Given the description of an element on the screen output the (x, y) to click on. 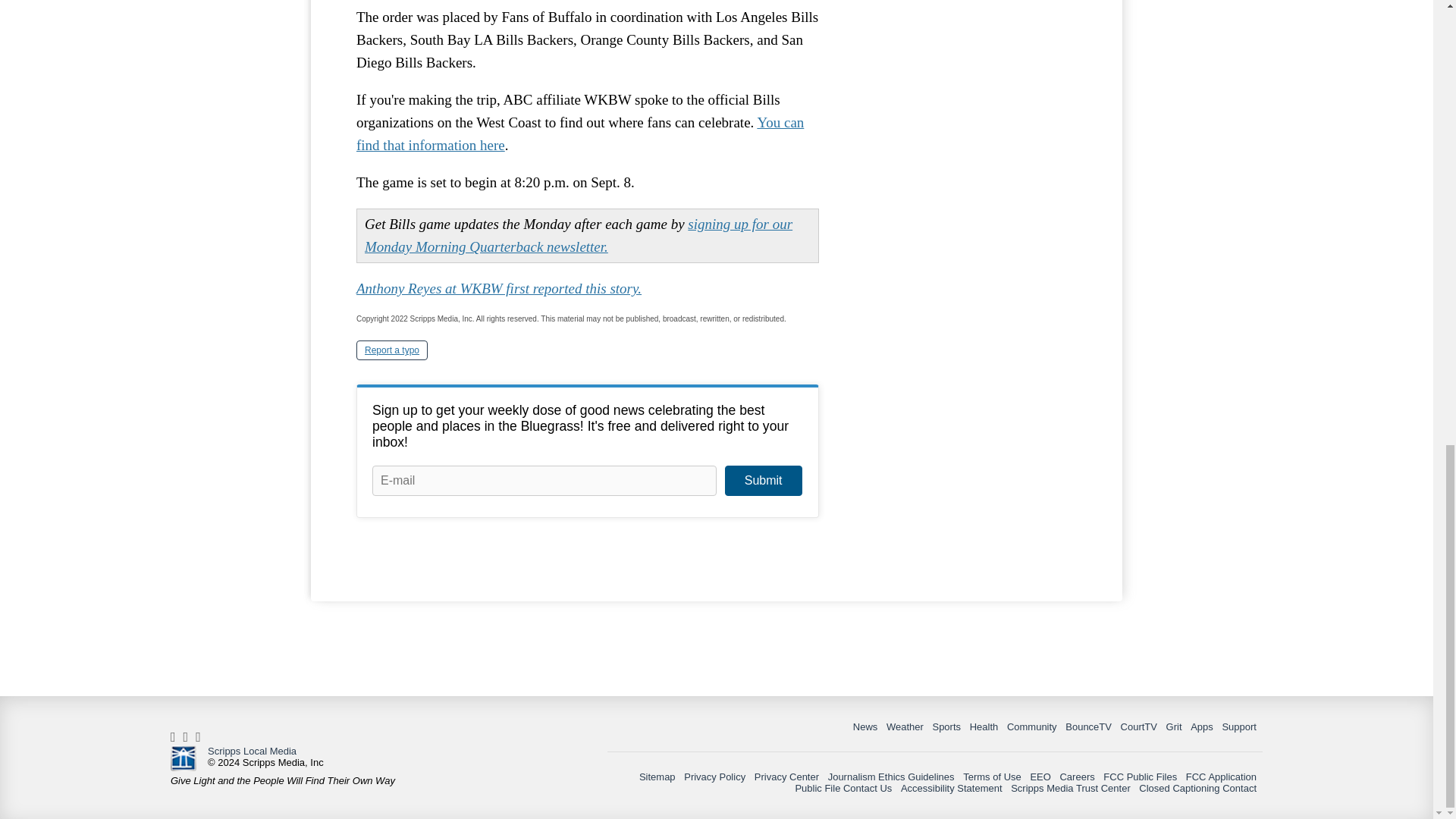
Submit (763, 481)
